Given the description of an element on the screen output the (x, y) to click on. 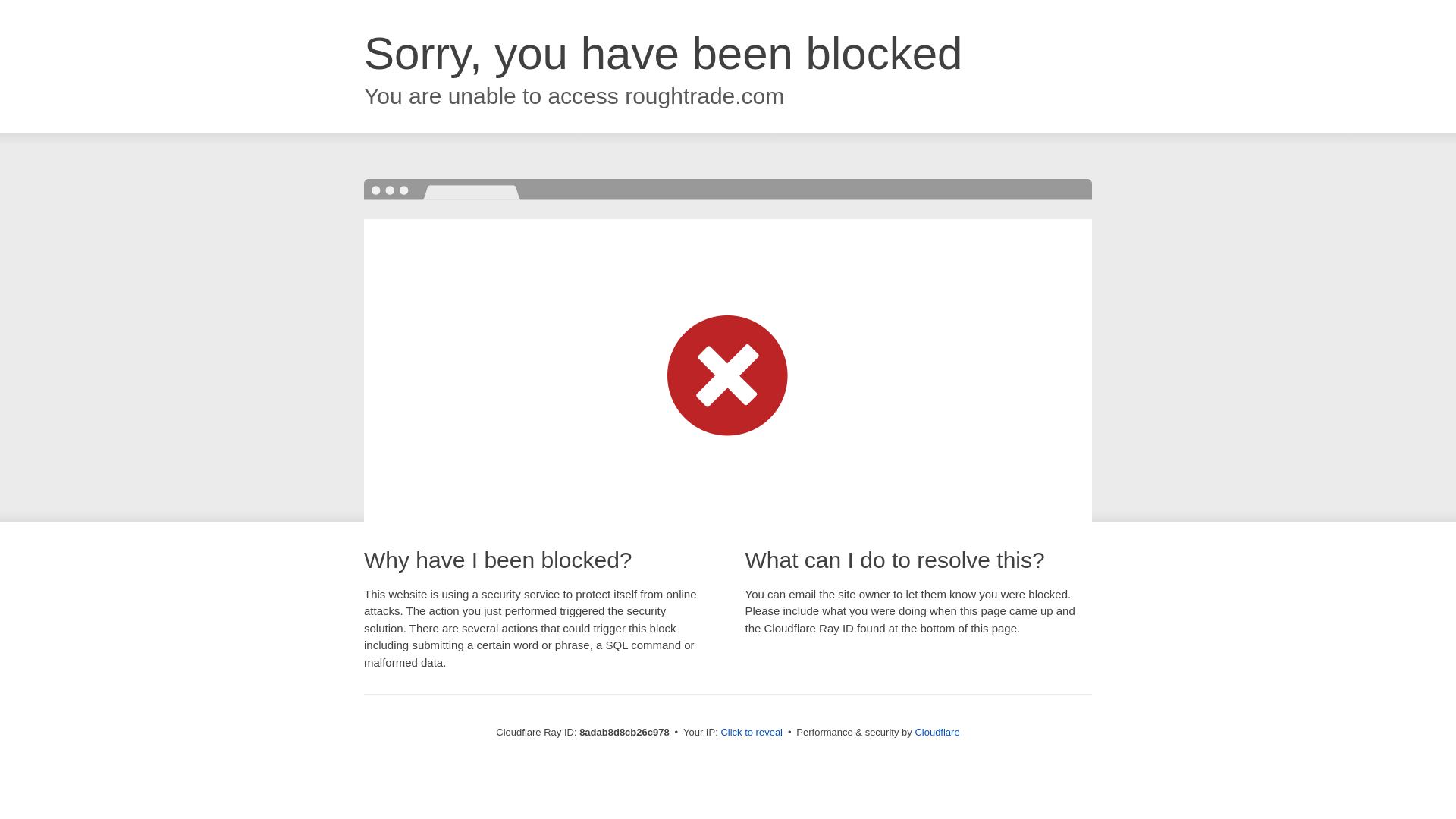
Cloudflare (936, 731)
Click to reveal (751, 732)
